Given the description of an element on the screen output the (x, y) to click on. 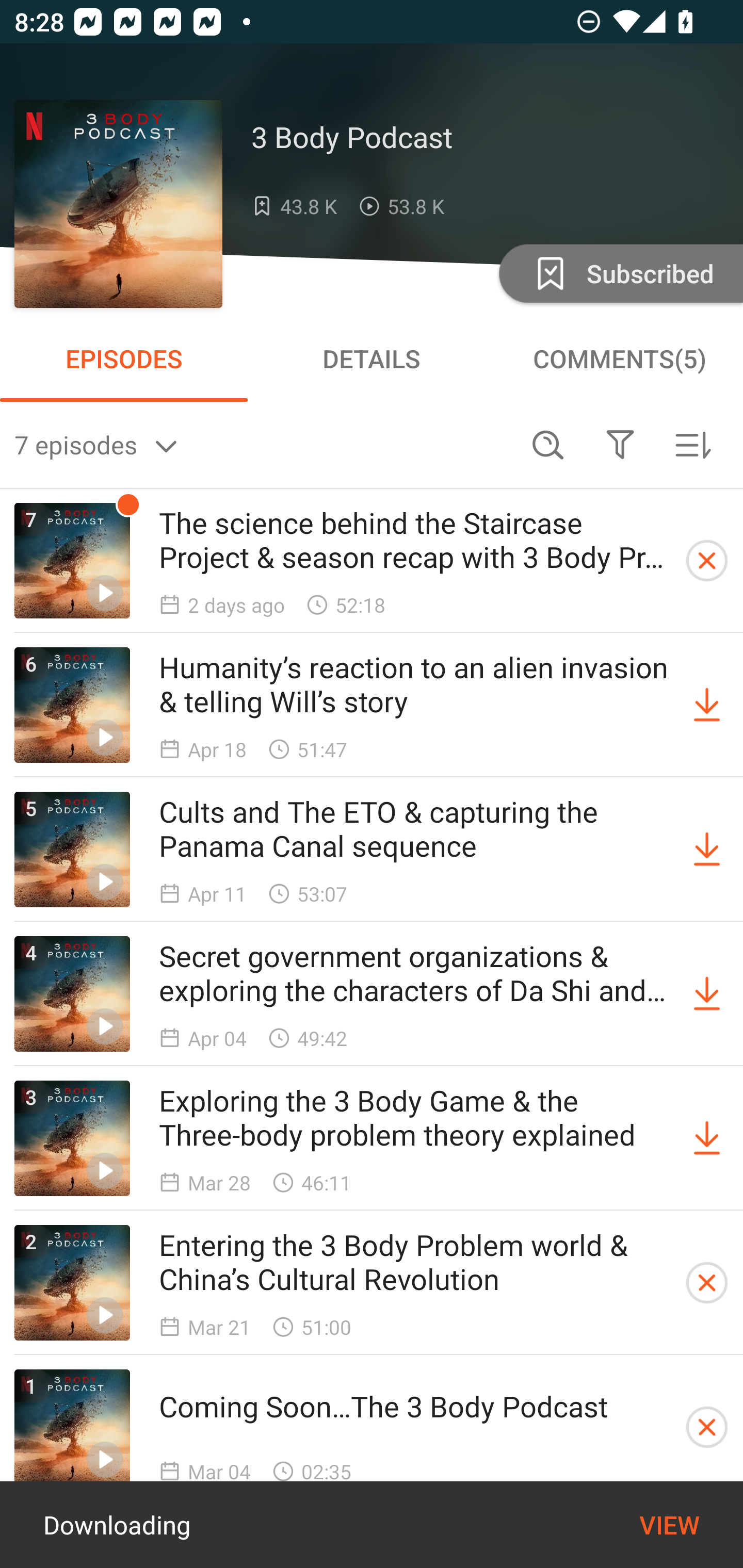
Unsubscribe Subscribed (619, 272)
EPISODES (123, 358)
DETAILS (371, 358)
COMMENTS(5) (619, 358)
7 episodes  (262, 445)
 Search (547, 445)
 (619, 445)
 Sorted by newest first (692, 445)
Cancel Downloading (706, 560)
Download (706, 705)
Download (706, 849)
Download (706, 994)
Download (706, 1138)
Cancel Downloading (706, 1282)
Cancel Downloading (706, 1426)
Downloading VIEW (371, 1524)
VIEW (669, 1524)
